Given the description of an element on the screen output the (x, y) to click on. 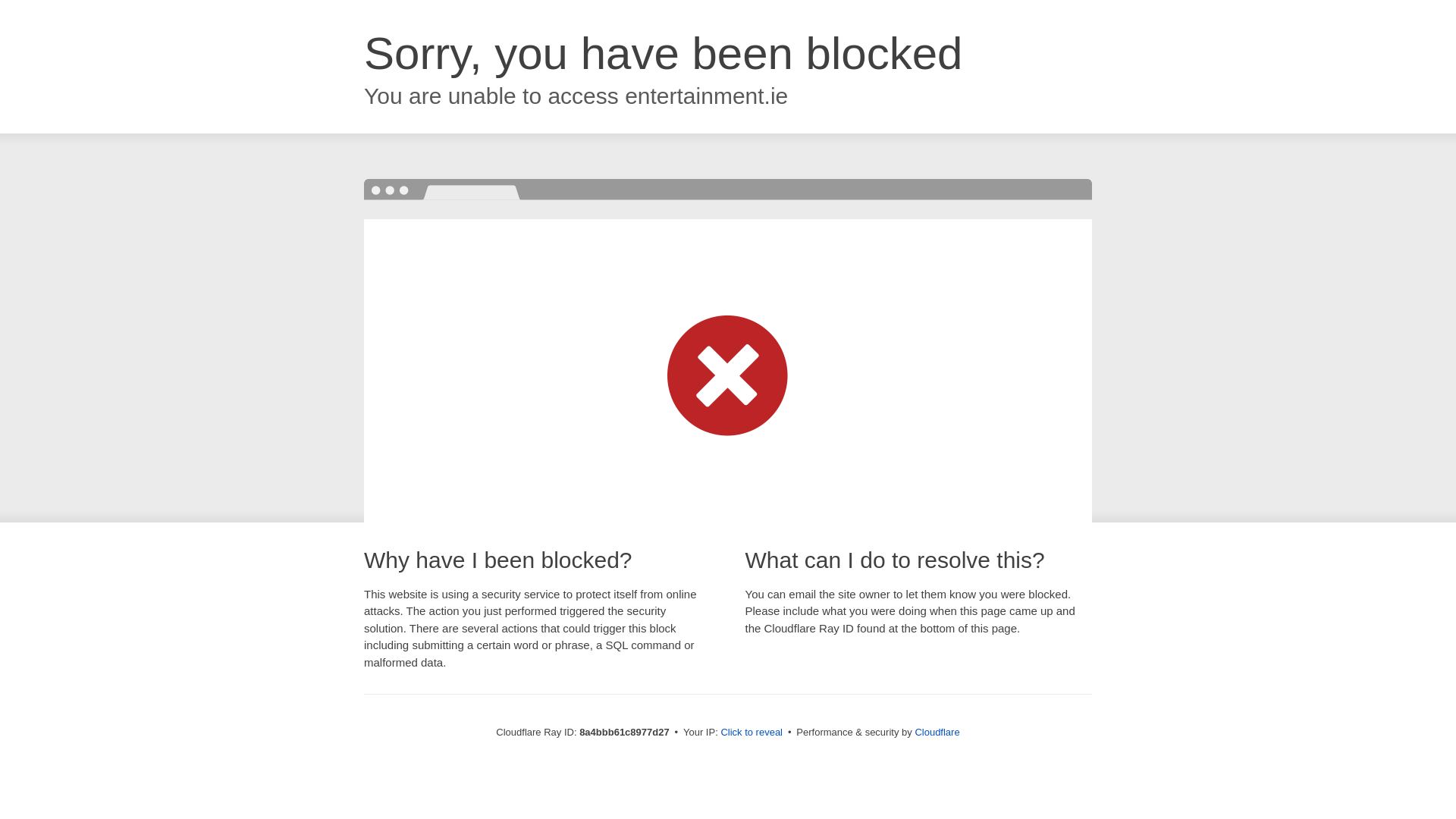
Click to reveal (751, 732)
Cloudflare (936, 731)
